Given the description of an element on the screen output the (x, y) to click on. 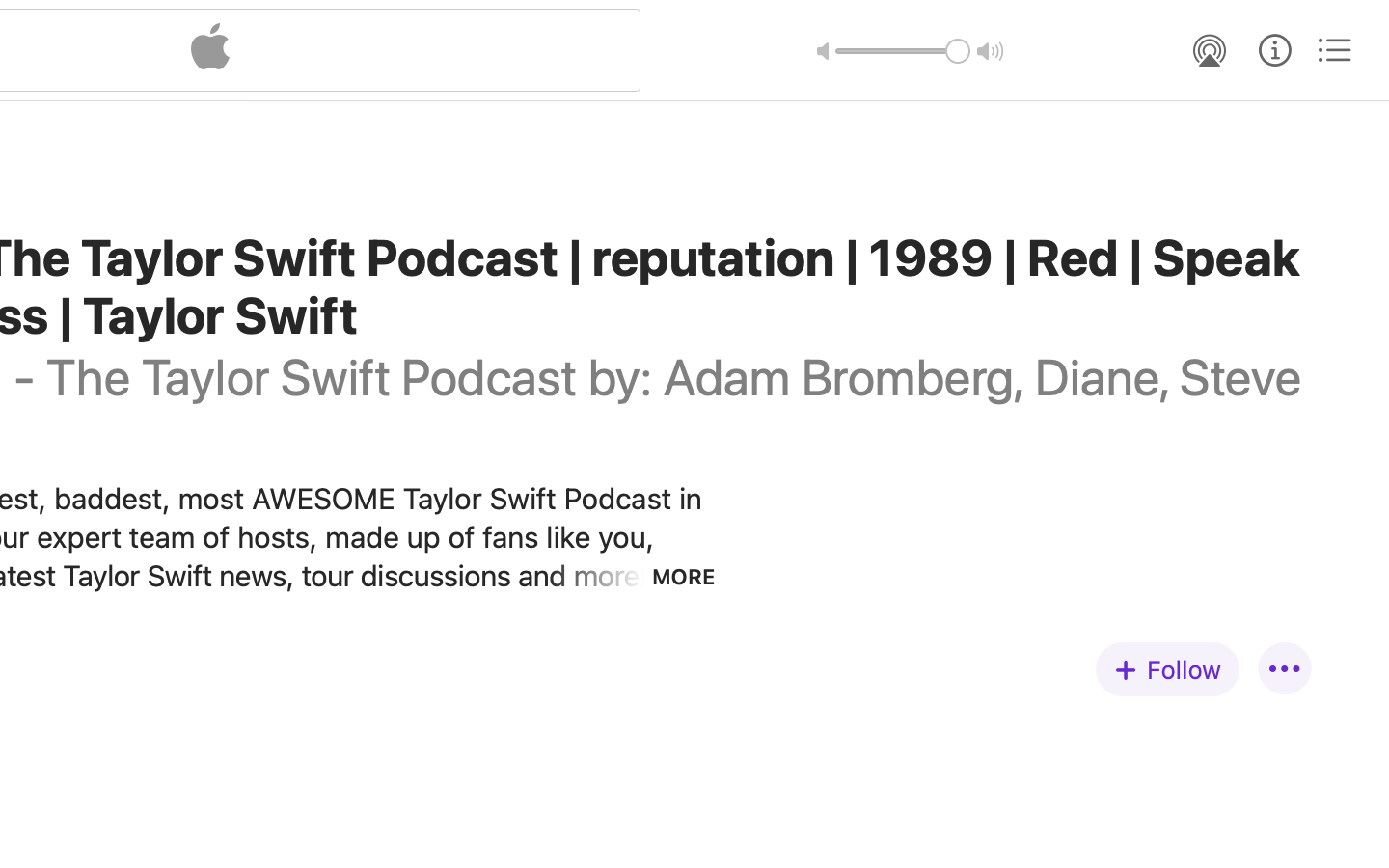
1.0 Element type: AXSlider (902, 50)
